Given the description of an element on the screen output the (x, y) to click on. 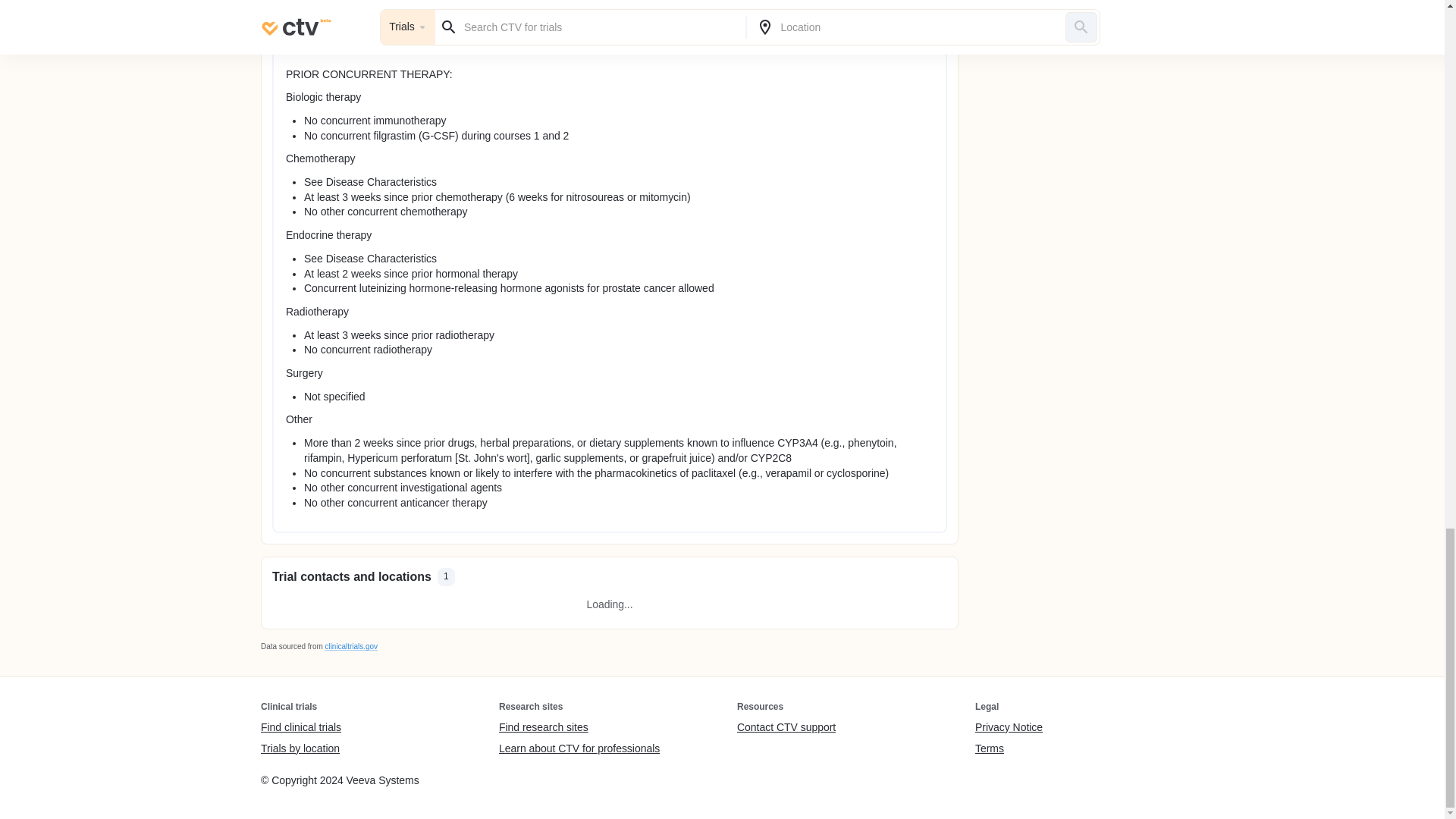
Privacy Notice (1008, 727)
Find clinical trials (300, 727)
Trials by location (300, 748)
Learn about CTV for professionals (579, 748)
clinicaltrials.gov (350, 646)
Find research sites (579, 727)
Contact CTV support (785, 727)
Terms (1008, 748)
